Given the description of an element on the screen output the (x, y) to click on. 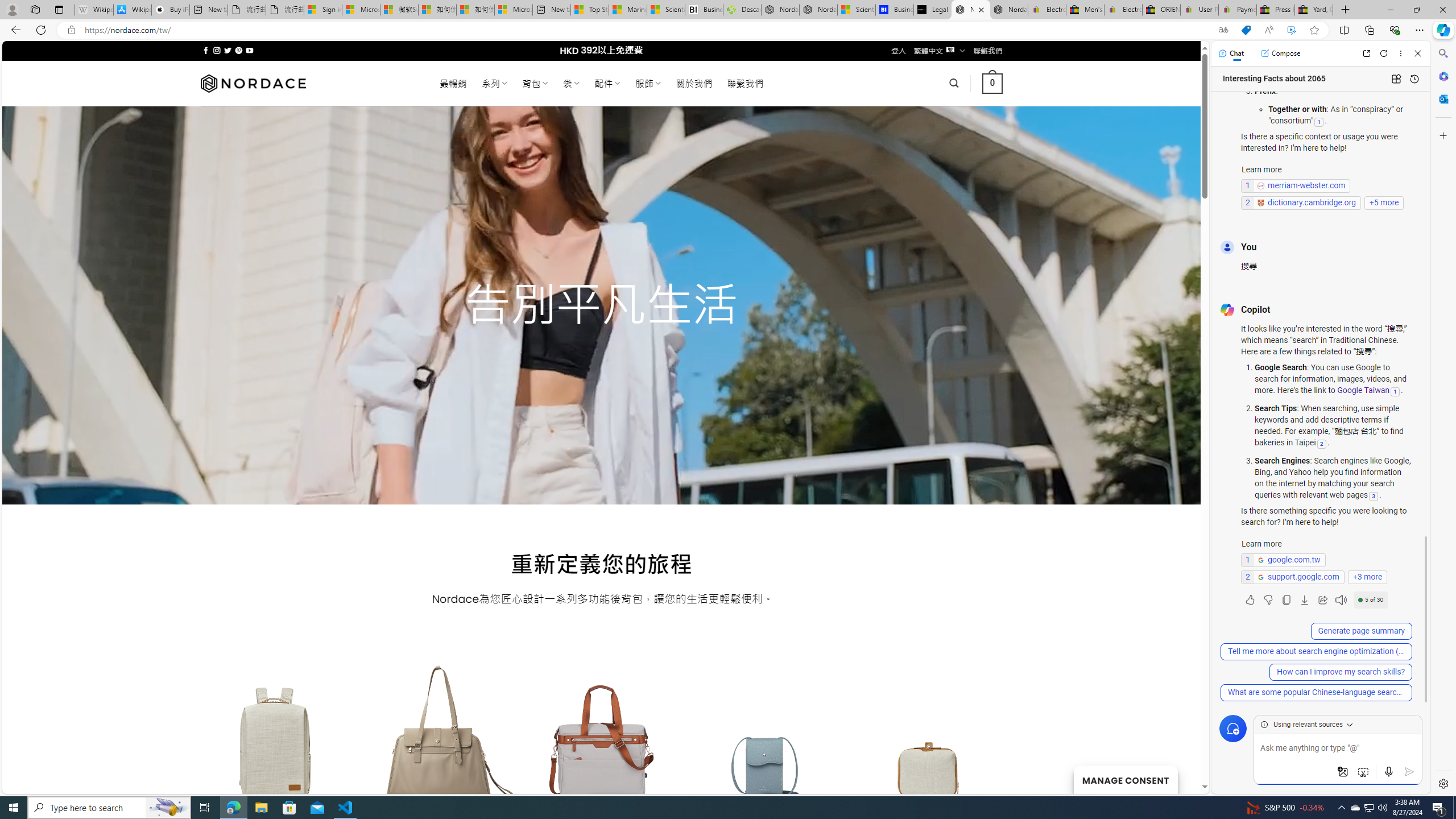
MANAGE CONSENT (1125, 779)
